Given the description of an element on the screen output the (x, y) to click on. 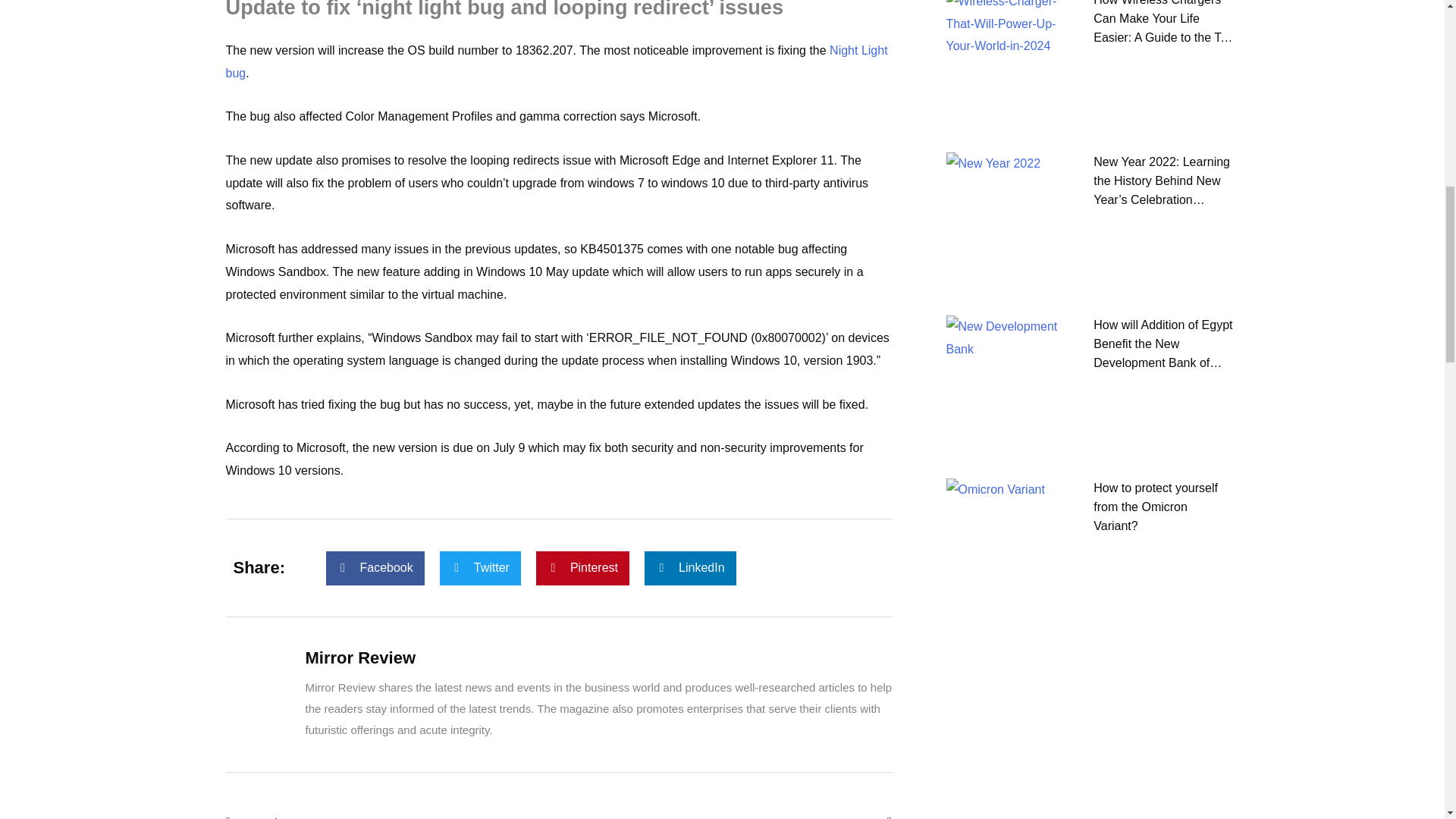
Night Light bug (556, 61)
